Given the description of an element on the screen output the (x, y) to click on. 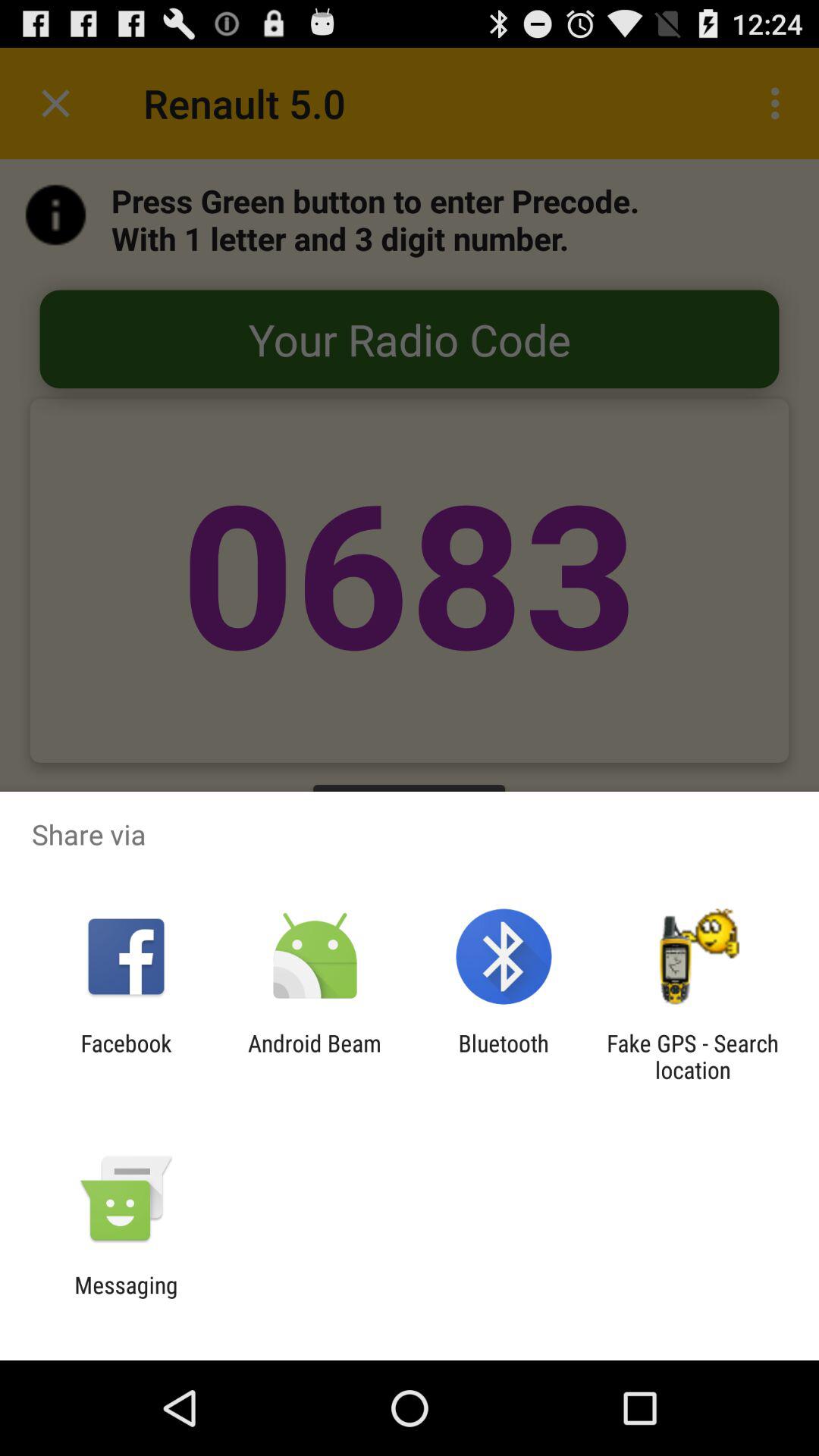
flip until bluetooth (503, 1056)
